Given the description of an element on the screen output the (x, y) to click on. 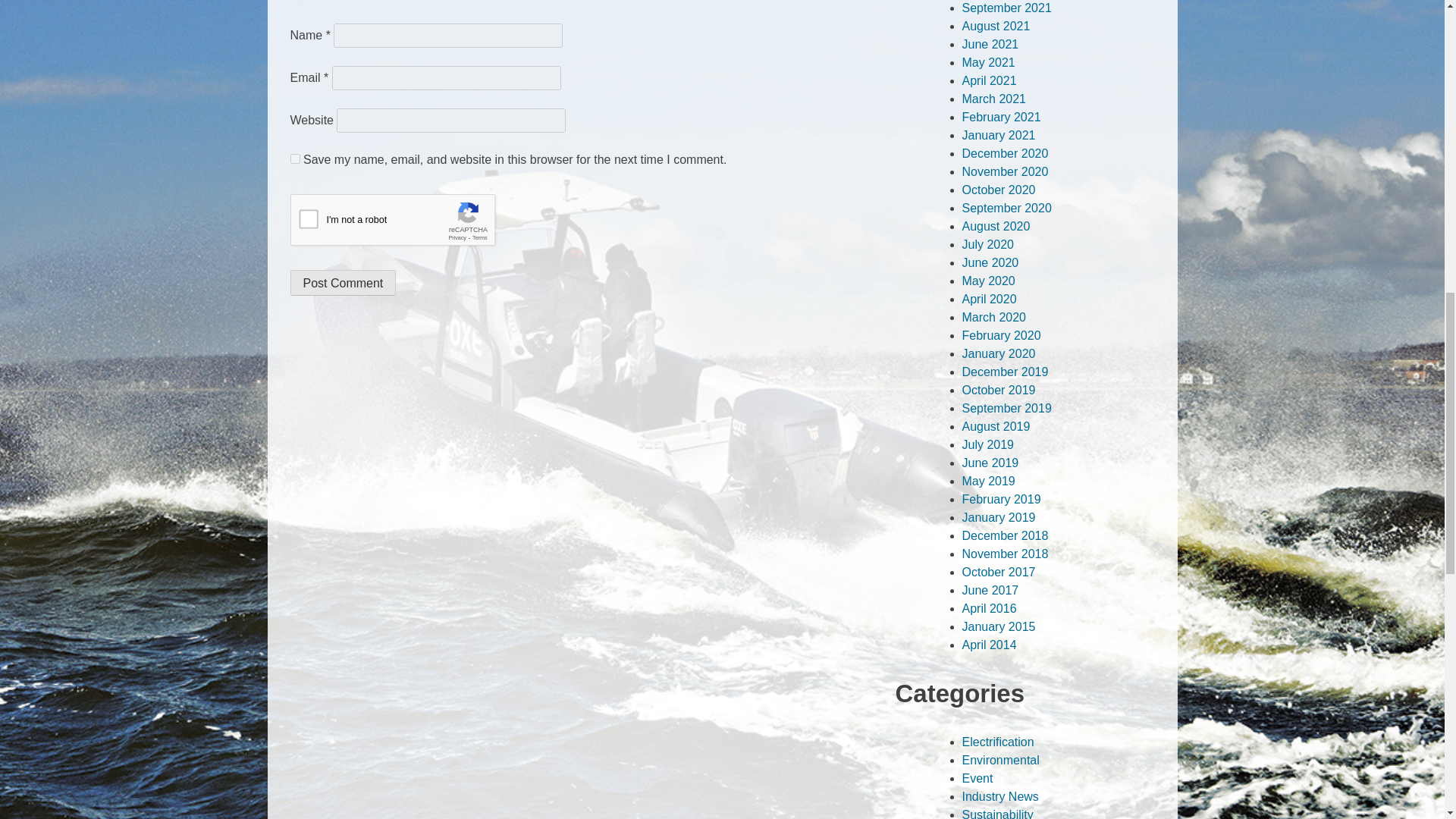
yes (294, 158)
reCAPTCHA (404, 223)
Post Comment (342, 282)
Post Comment (342, 282)
